Given the description of an element on the screen output the (x, y) to click on. 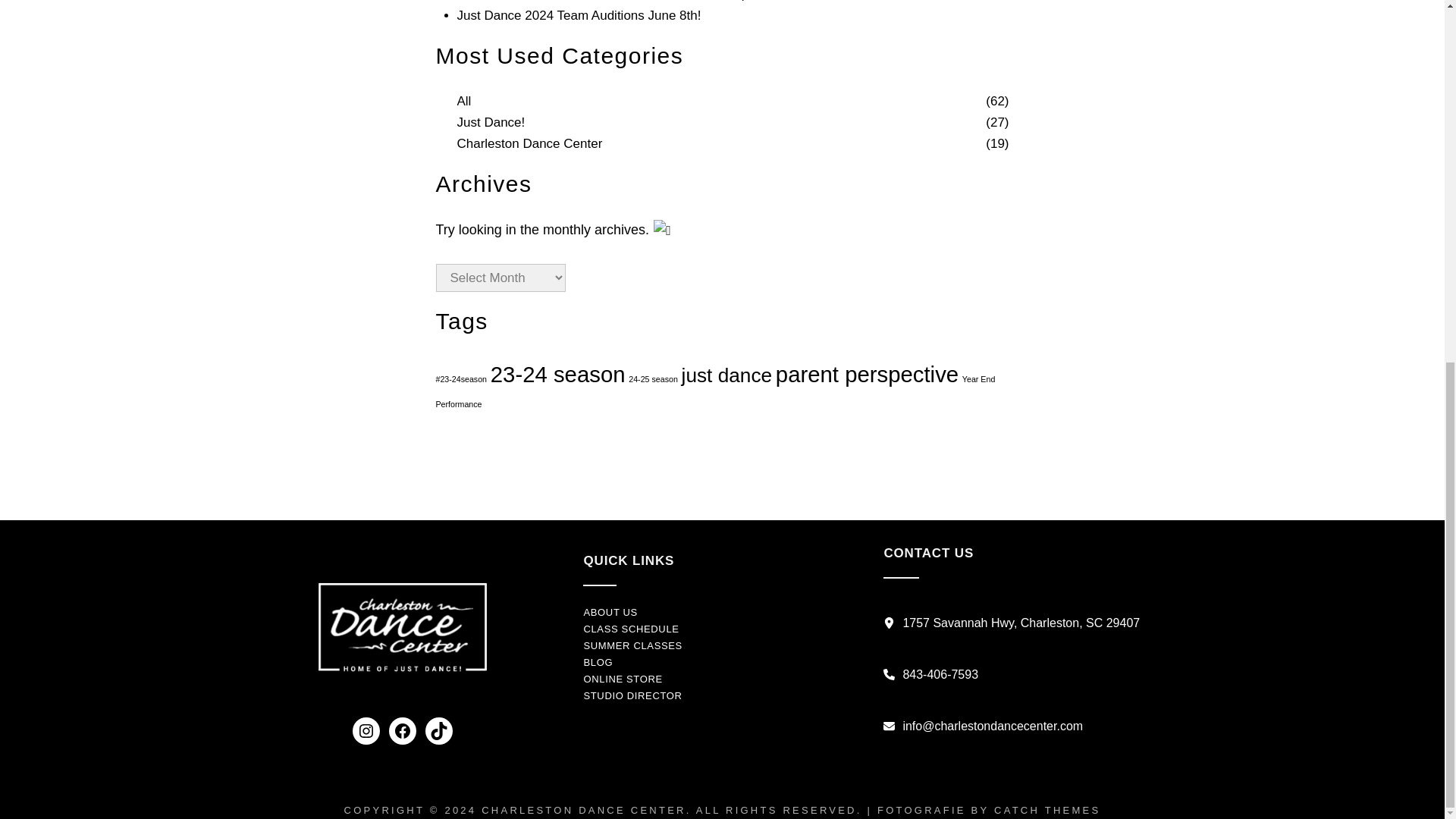
Charleston Dance Center (529, 143)
Just Dance! (490, 122)
Just Dance 2024 Team Auditions June 8th! (578, 15)
